Given the description of an element on the screen output the (x, y) to click on. 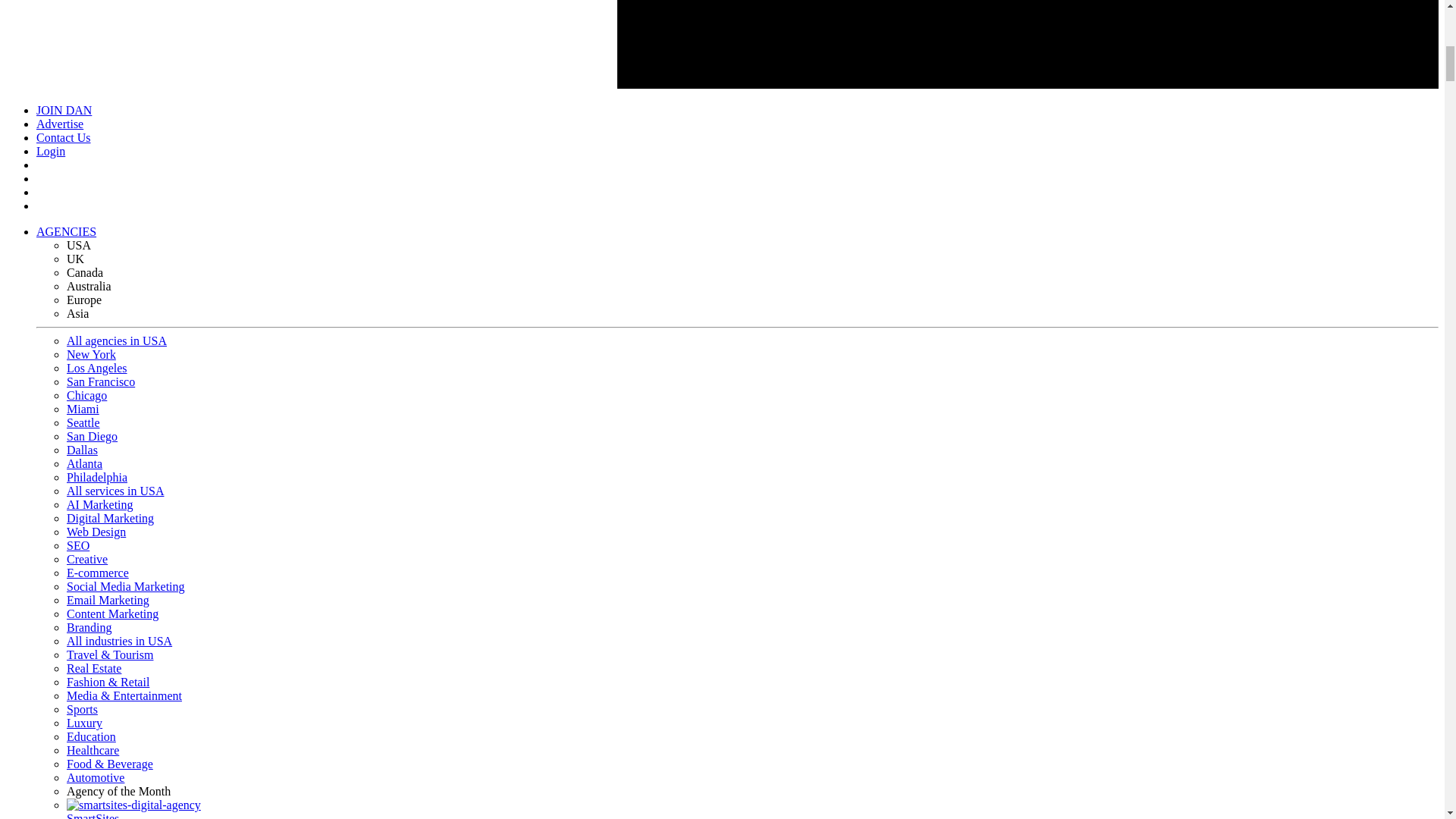
Advertise (59, 123)
All industries in USA (118, 640)
Digital Marketing (110, 517)
All agencies in USA (116, 340)
Real Estate (93, 667)
Sports (81, 708)
Creative (86, 558)
E-commerce (97, 572)
San Diego (91, 436)
Philadelphia (97, 477)
Atlanta (83, 463)
Login (50, 151)
New York (91, 354)
Content Marketing (112, 613)
Luxury (83, 722)
